Given the description of an element on the screen output the (x, y) to click on. 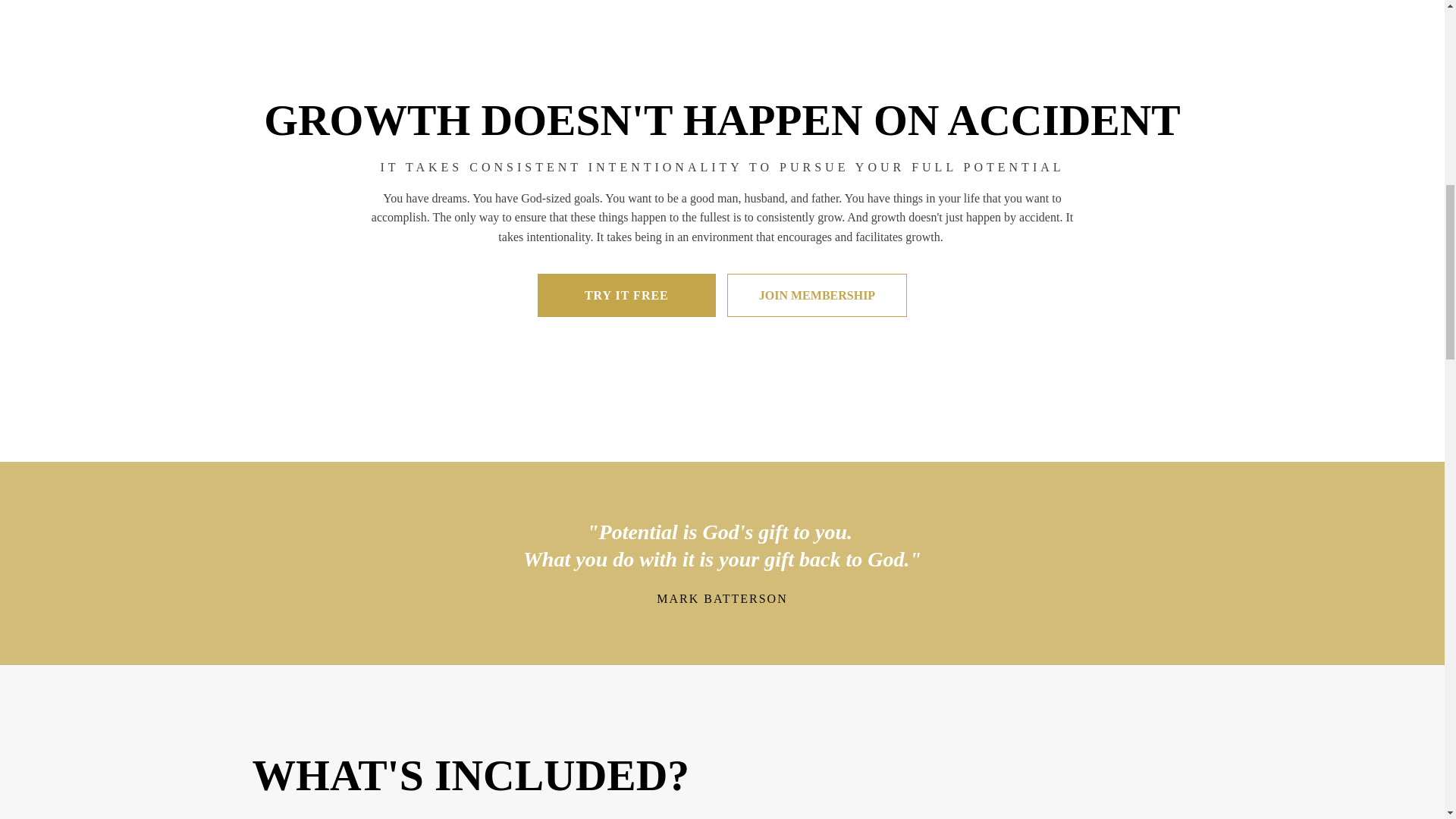
TRY IT FREE (626, 295)
JOIN MEMBERSHIP (816, 295)
